Given the description of an element on the screen output the (x, y) to click on. 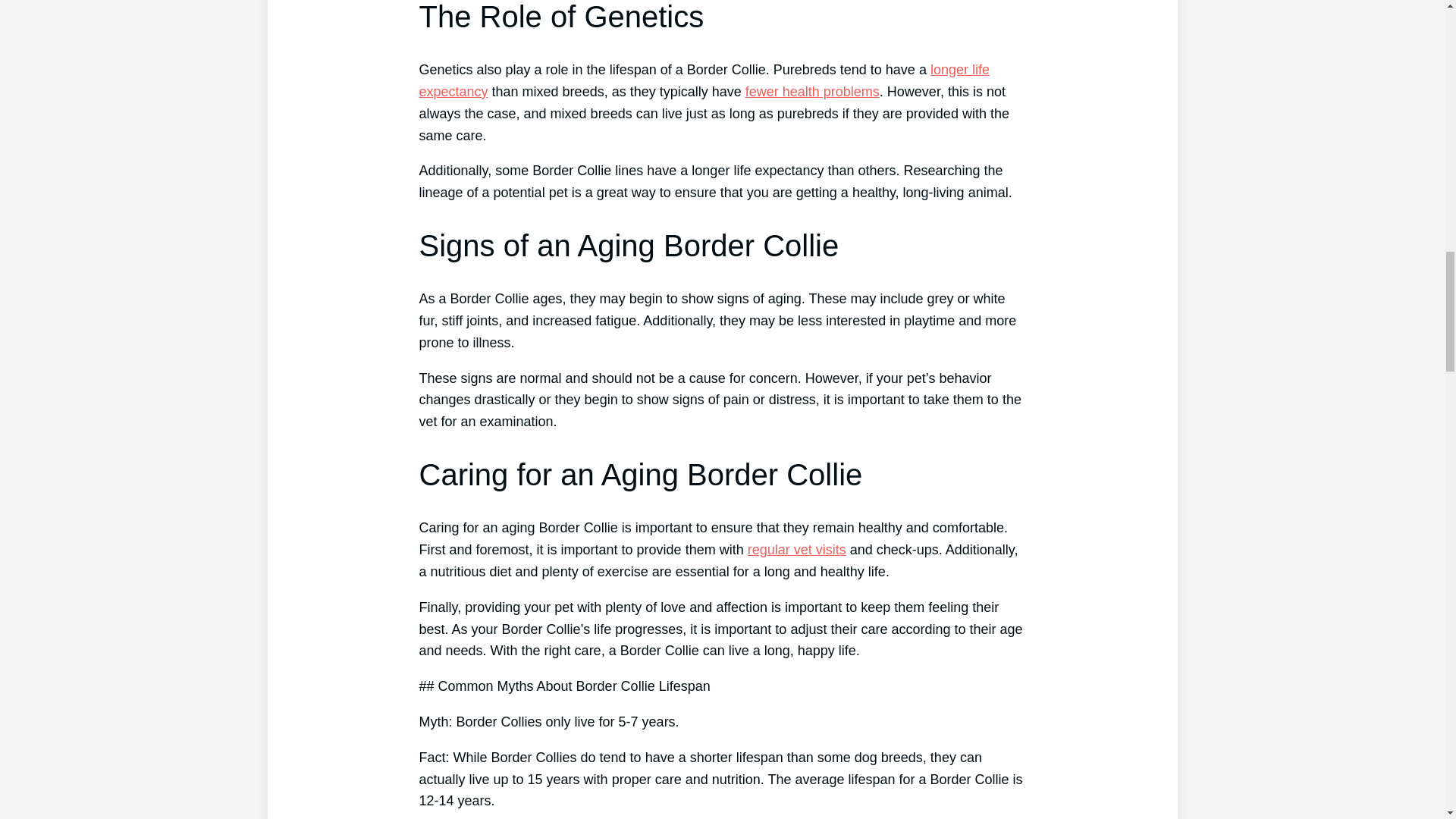
Does Endurance Running Increase Longevity? (703, 80)
Can you hurt cats feelings? (796, 549)
How can I tell if my Goldendoodle is purebred? (812, 91)
